Given the description of an element on the screen output the (x, y) to click on. 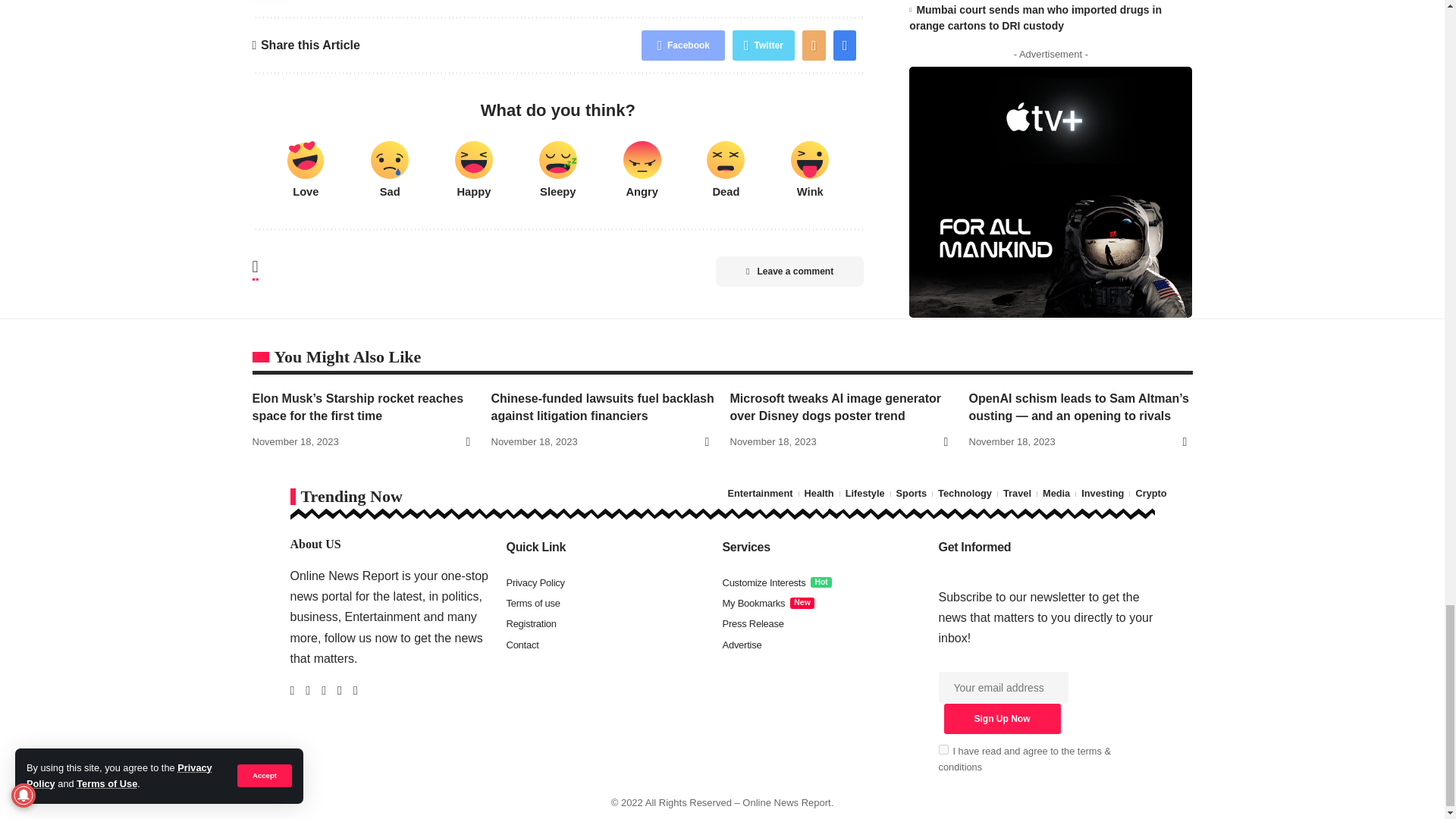
Sign Up Now (1001, 718)
1 (944, 749)
